Given the description of an element on the screen output the (x, y) to click on. 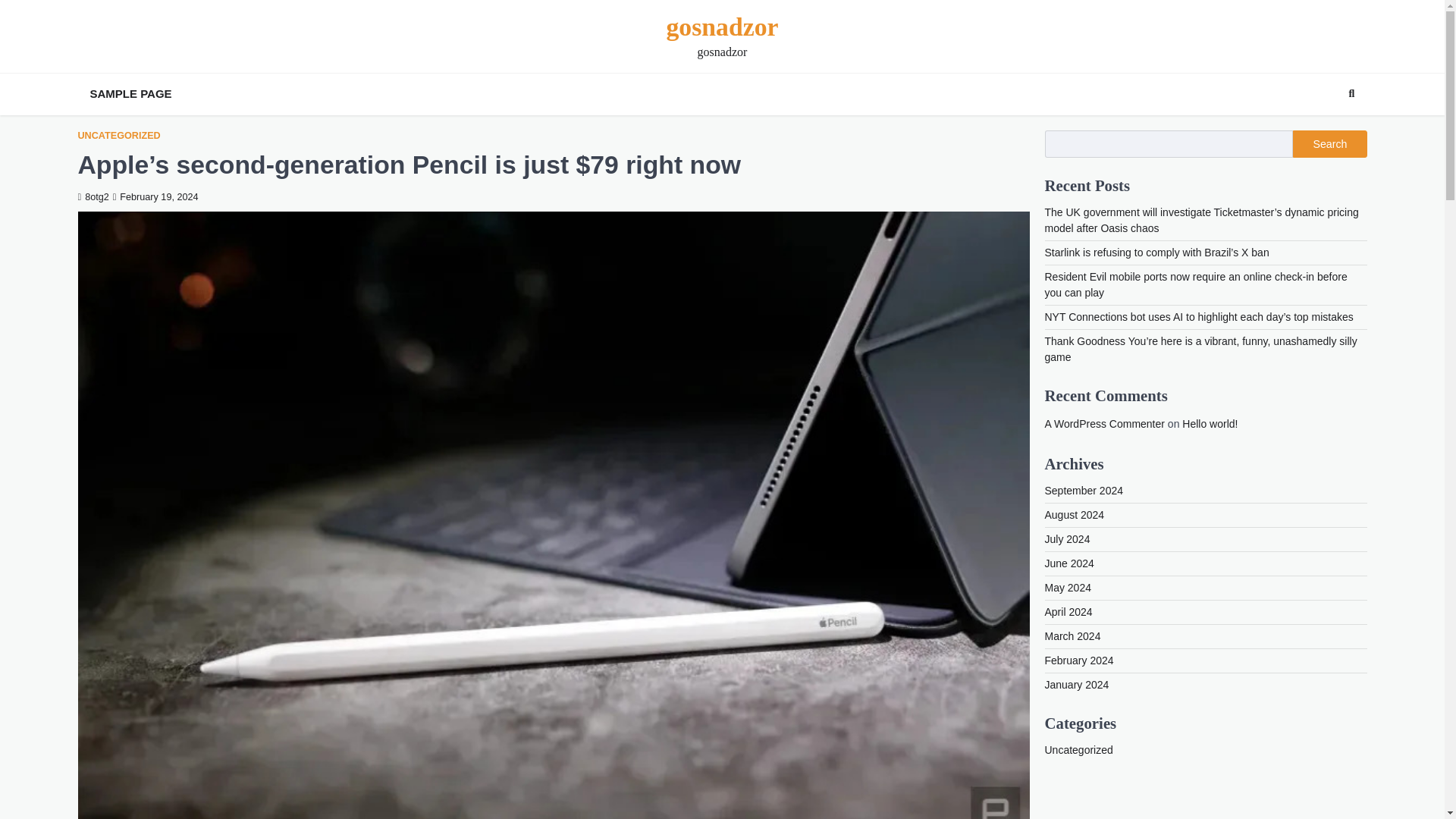
Search (1351, 93)
September 2024 (1084, 490)
August 2024 (1075, 514)
SAMPLE PAGE (129, 94)
A WordPress Commenter (1104, 423)
Search (1323, 129)
UNCATEGORIZED (118, 135)
February 19, 2024 (155, 196)
gosnadzor (721, 26)
April 2024 (1069, 612)
